Given the description of an element on the screen output the (x, y) to click on. 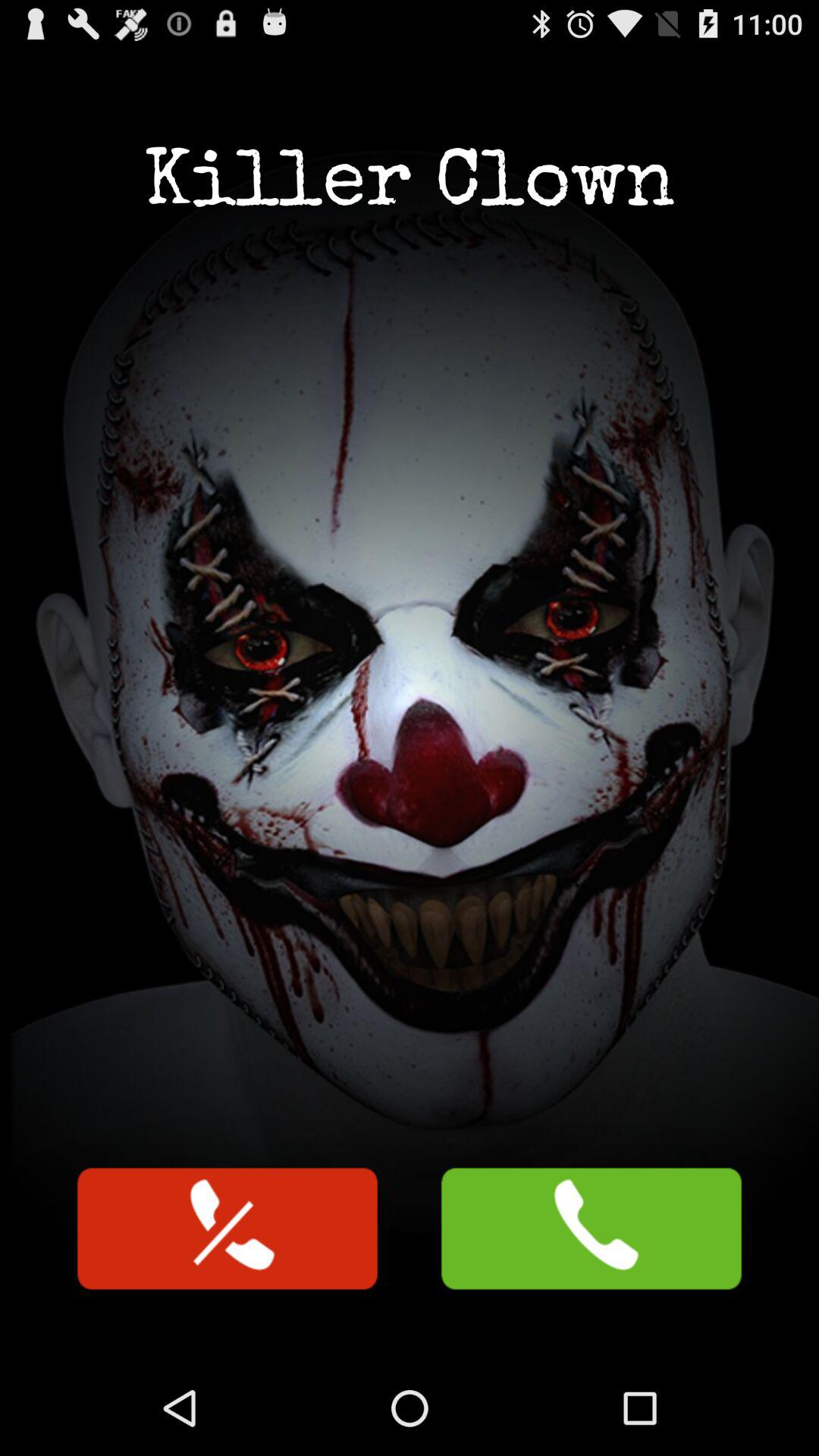
decline phonecall (227, 1228)
